Given the description of an element on the screen output the (x, y) to click on. 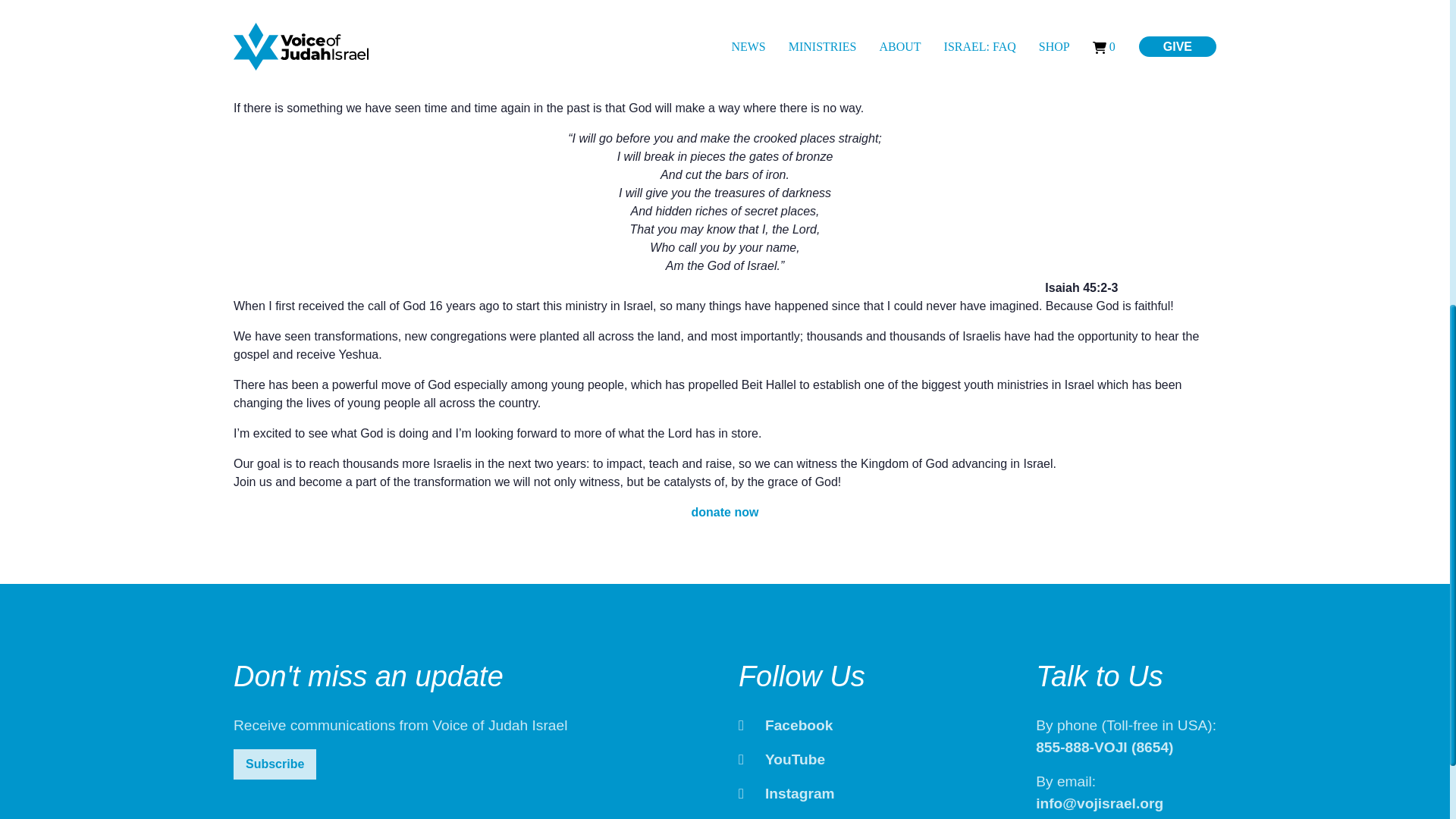
Subscribe (273, 764)
Facebook (785, 725)
Instagram (786, 793)
donate now (724, 512)
YouTube (781, 759)
